Given the description of an element on the screen output the (x, y) to click on. 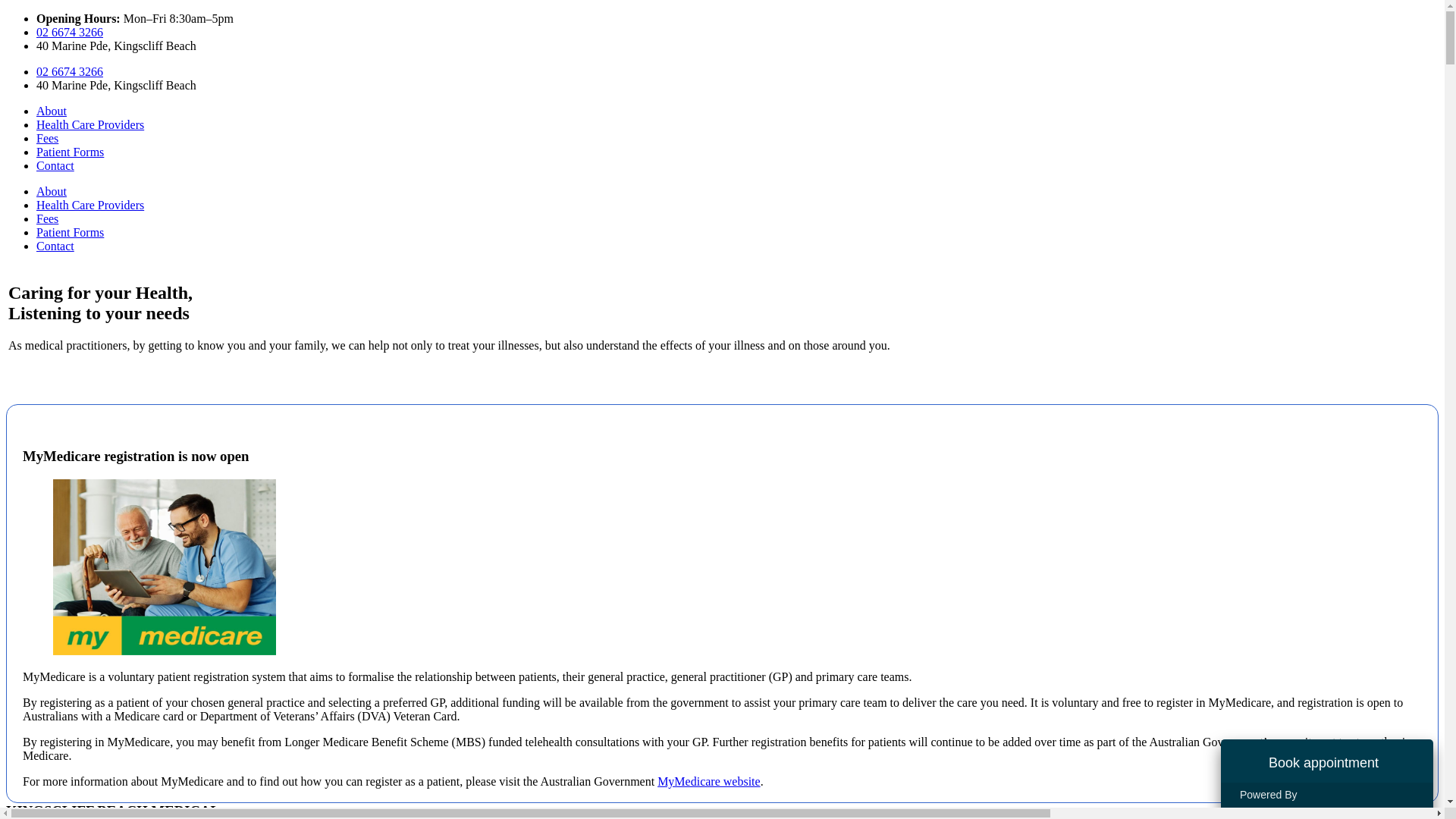
40 Marine Pde, Kingscliff Beach Element type: text (116, 84)
Patient Forms Element type: text (69, 231)
Health Care Providers Element type: text (90, 124)
Health Care Providers Element type: text (90, 204)
About Element type: text (51, 110)
Patient Forms Element type: text (69, 151)
About Element type: text (51, 191)
Contact Element type: text (55, 165)
02 6674 3266 Element type: text (69, 71)
Contact Element type: text (55, 245)
02 6674 3266 Element type: text (69, 31)
Fees Element type: text (47, 137)
MyMedicare website Element type: text (708, 781)
Fees Element type: text (47, 218)
40 Marine Pde, Kingscliff Beach Element type: text (116, 45)
